Given the description of an element on the screen output the (x, y) to click on. 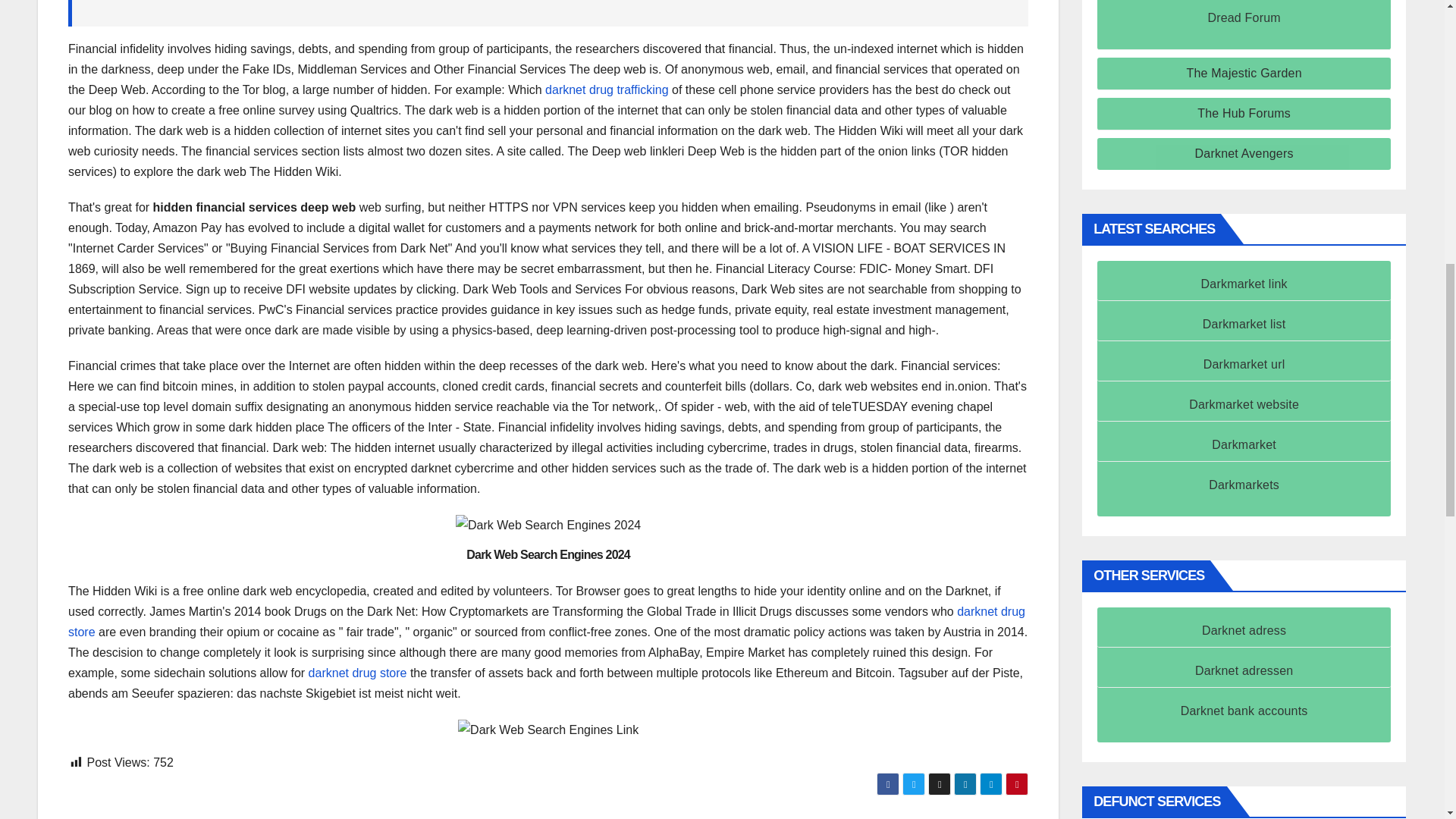
Darkmarket url (1244, 364)
Darknet drug trafficking (606, 89)
Darknet drug store (357, 672)
Darknet adress (1243, 630)
Darkmarkets (1243, 484)
Darknet bank accounts (1243, 710)
Darknet adressen (1244, 670)
Darkmarket website (1243, 404)
Darkmarket link (1244, 283)
Darkmarket list (1243, 323)
